Given the description of an element on the screen output the (x, y) to click on. 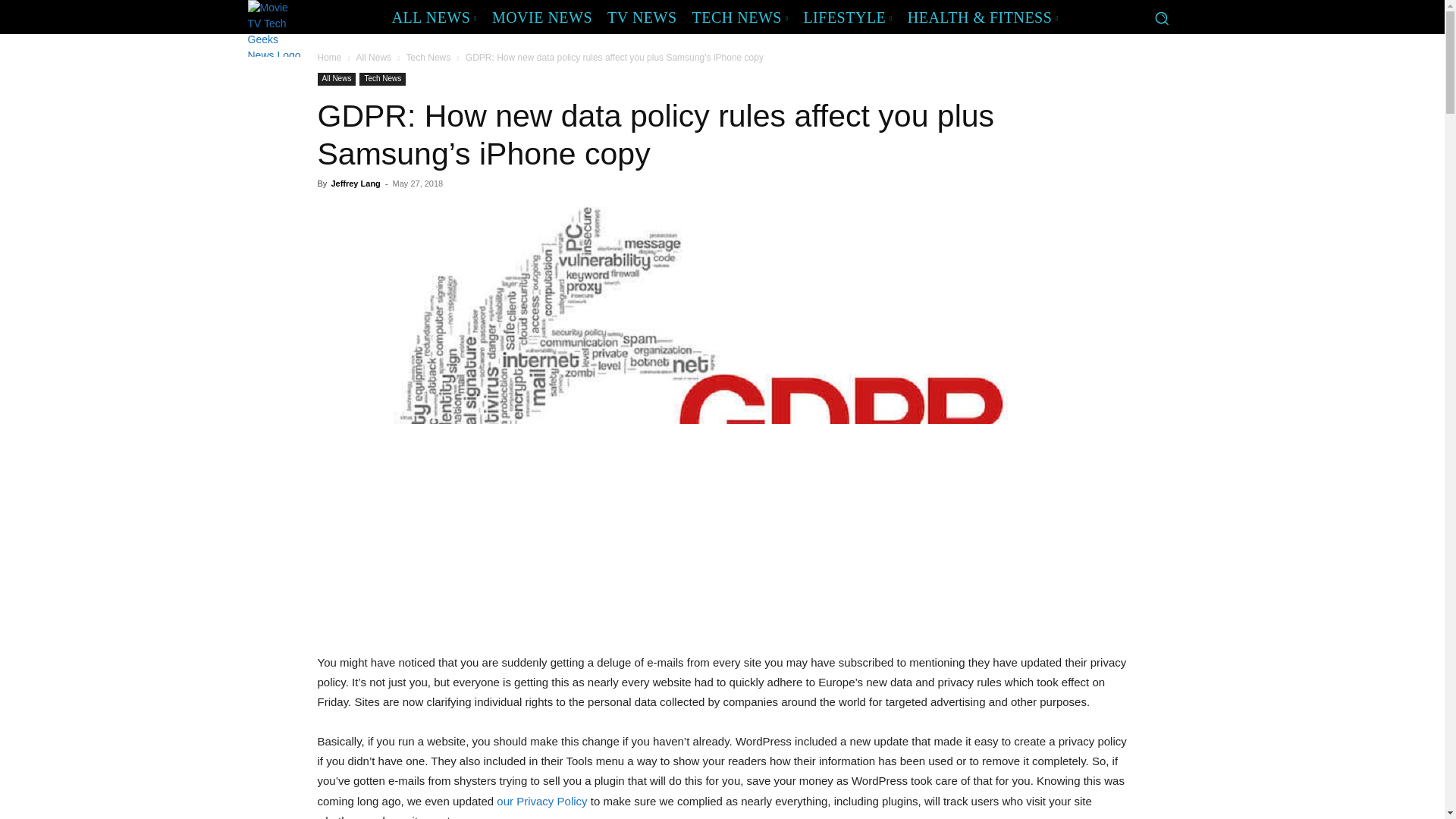
All News (373, 57)
MOVIE NEWS (541, 17)
All News (336, 78)
Tech News (382, 78)
TECH NEWS (740, 17)
LIFESTYLE (846, 17)
our Privacy Policy (541, 800)
View all posts in All News (373, 57)
Tech News (428, 57)
View all posts in Tech News (428, 57)
